Given the description of an element on the screen output the (x, y) to click on. 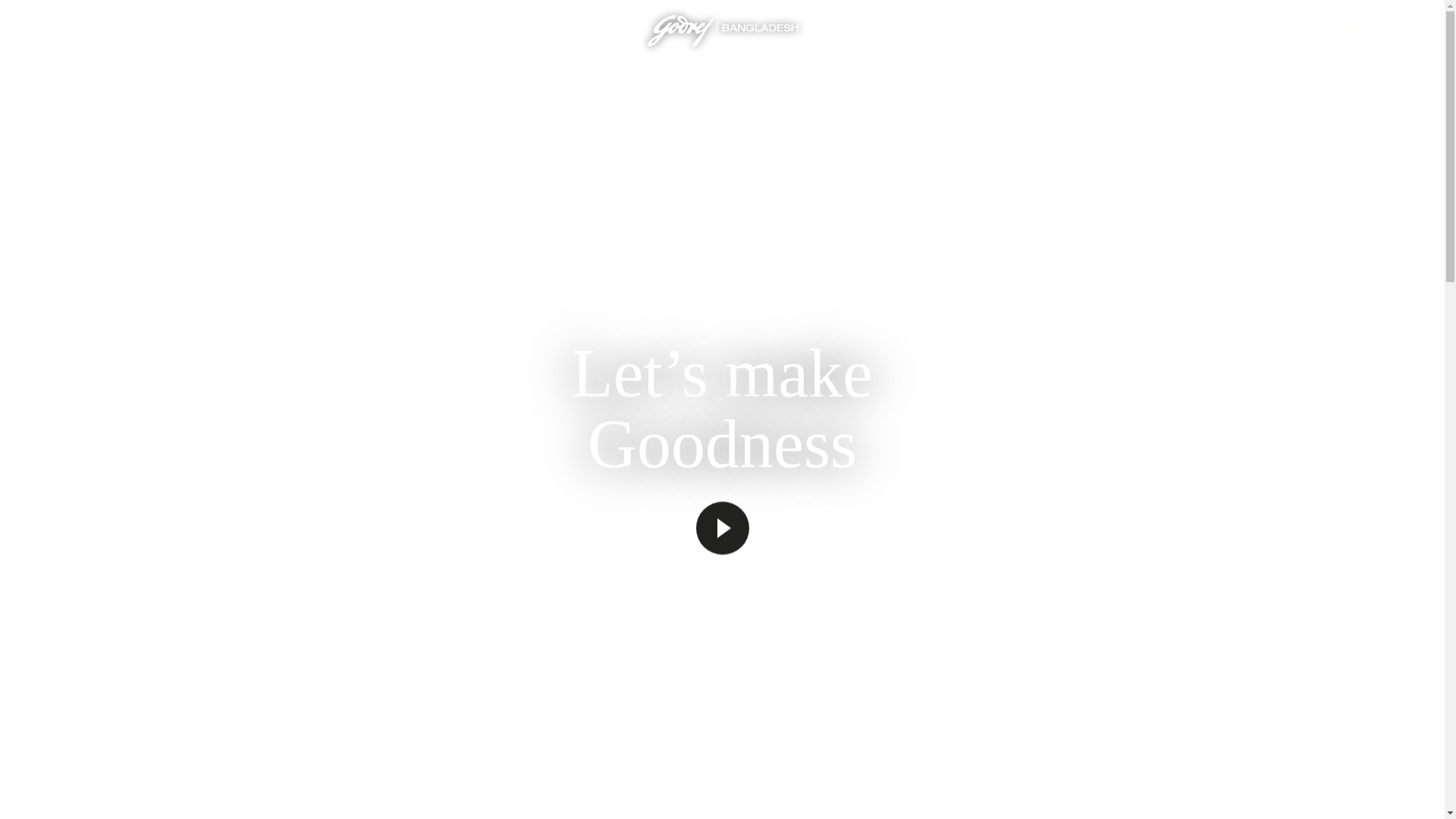
Investors (858, 90)
Know Us (459, 90)
Sustainability (749, 90)
People (644, 90)
Brands (555, 90)
Contact (1399, 29)
